Given the description of an element on the screen output the (x, y) to click on. 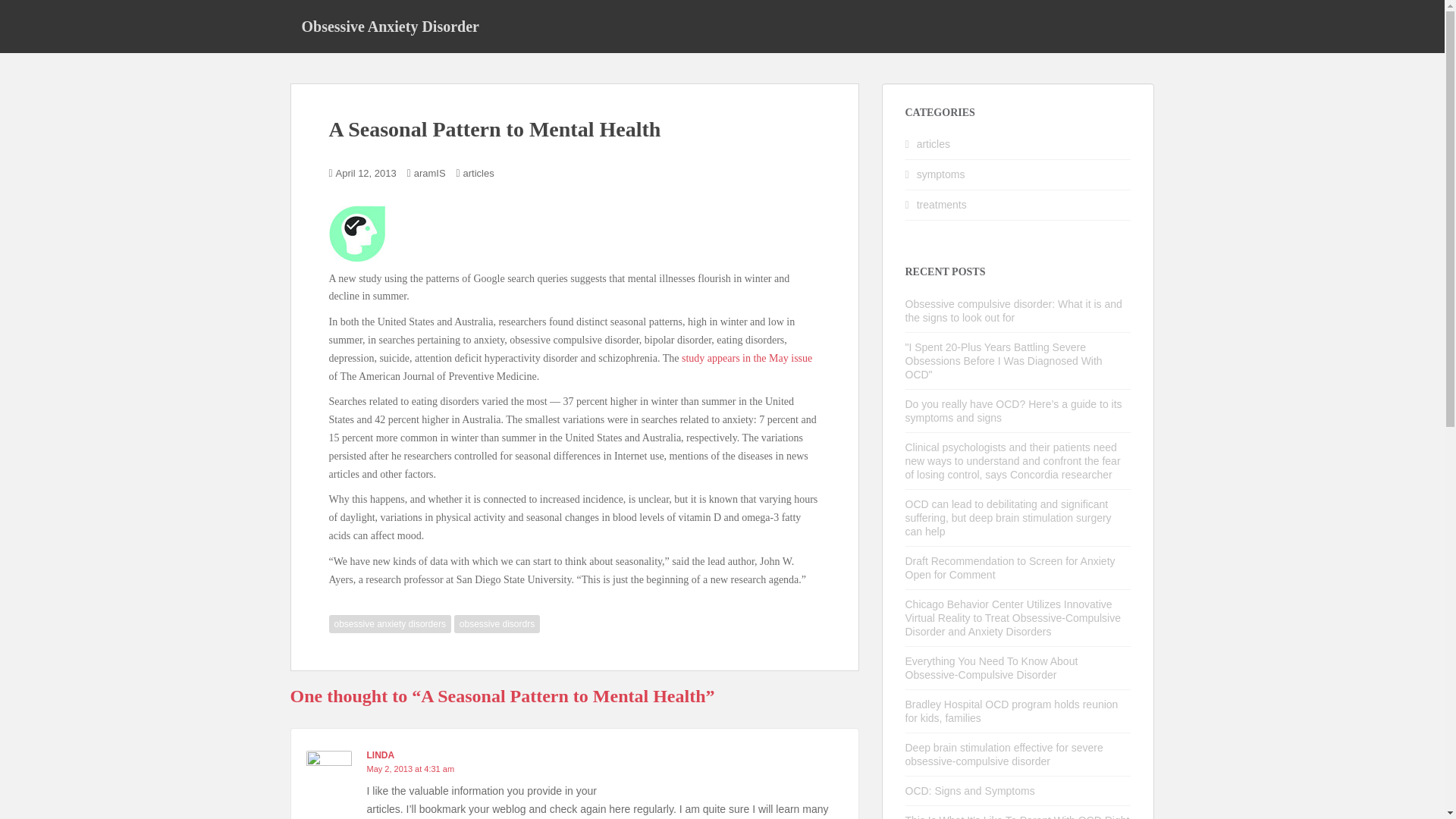
Obsessive Anxiety Disorder (389, 26)
treatments (941, 204)
May 2, 2013 at 4:31 am (410, 768)
Draft Recommendation to Screen for Anxiety Open for Comment (1010, 567)
LINDA (380, 755)
articles (933, 143)
study appears in the May issue (746, 357)
symptoms (941, 174)
April 12, 2013 (366, 173)
OCD: Signs and Symptoms (970, 790)
